Given the description of an element on the screen output the (x, y) to click on. 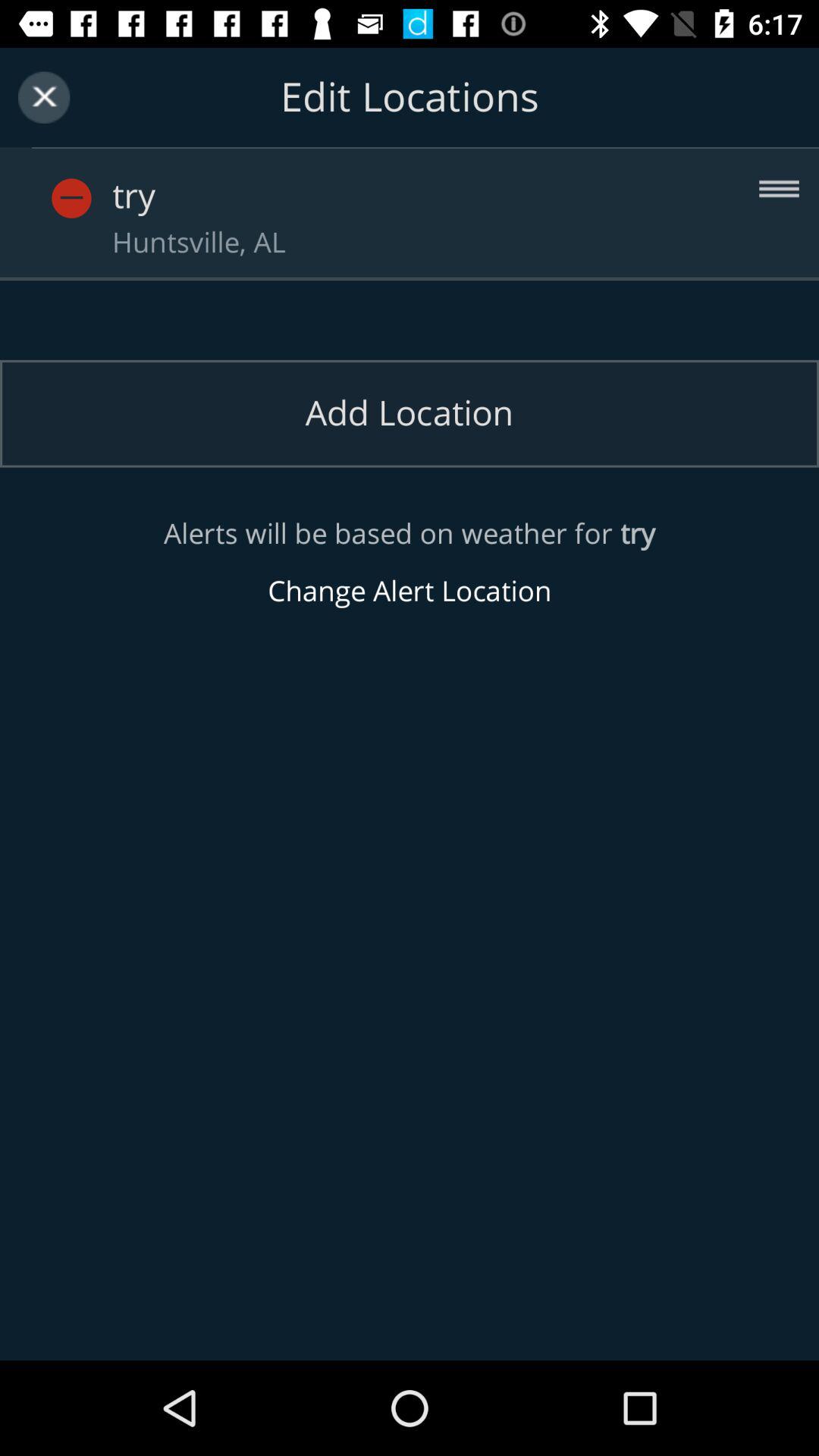
cancel the edit (43, 97)
